Given the description of an element on the screen output the (x, y) to click on. 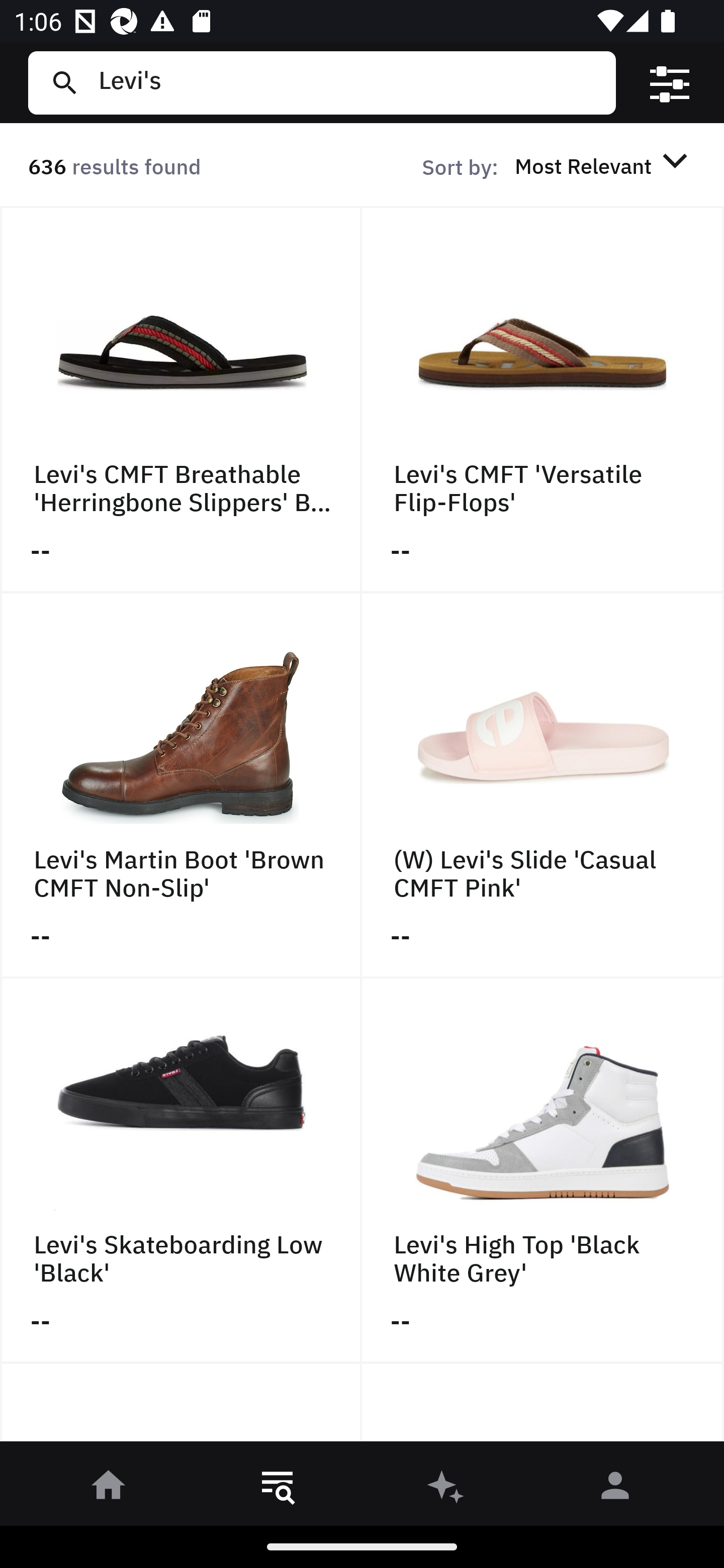
Levi's (349, 82)
 (669, 82)
Most Relevant  (604, 165)
Levi's CMFT 'Versatile Flip-Flops' -- (543, 399)
Levi's Martin Boot 'Brown CMFT Non-Slip' -- (181, 785)
(W) Levi's Slide 'Casual CMFT Pink' -- (543, 785)
Levi's Skateboarding Low 'Black' -- (181, 1171)
Levi's High Top 'Black White Grey' -- (543, 1171)
󰋜 (108, 1488)
󱎸 (277, 1488)
󰫢 (446, 1488)
󰀄 (615, 1488)
